Given the description of an element on the screen output the (x, y) to click on. 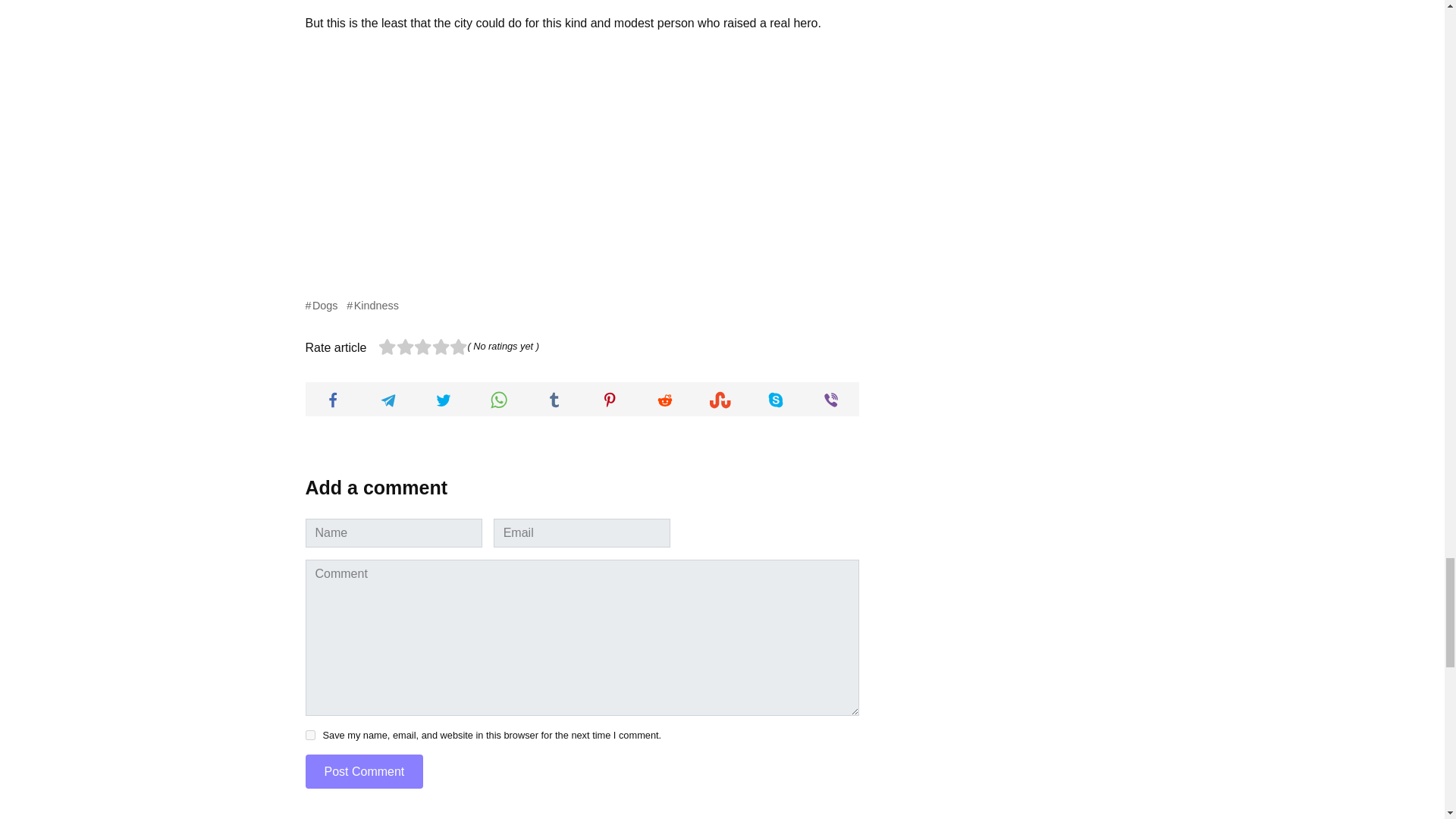
Dogs (320, 305)
Kindness (372, 305)
Post Comment (363, 771)
Post Comment (363, 771)
yes (309, 735)
